Given the description of an element on the screen output the (x, y) to click on. 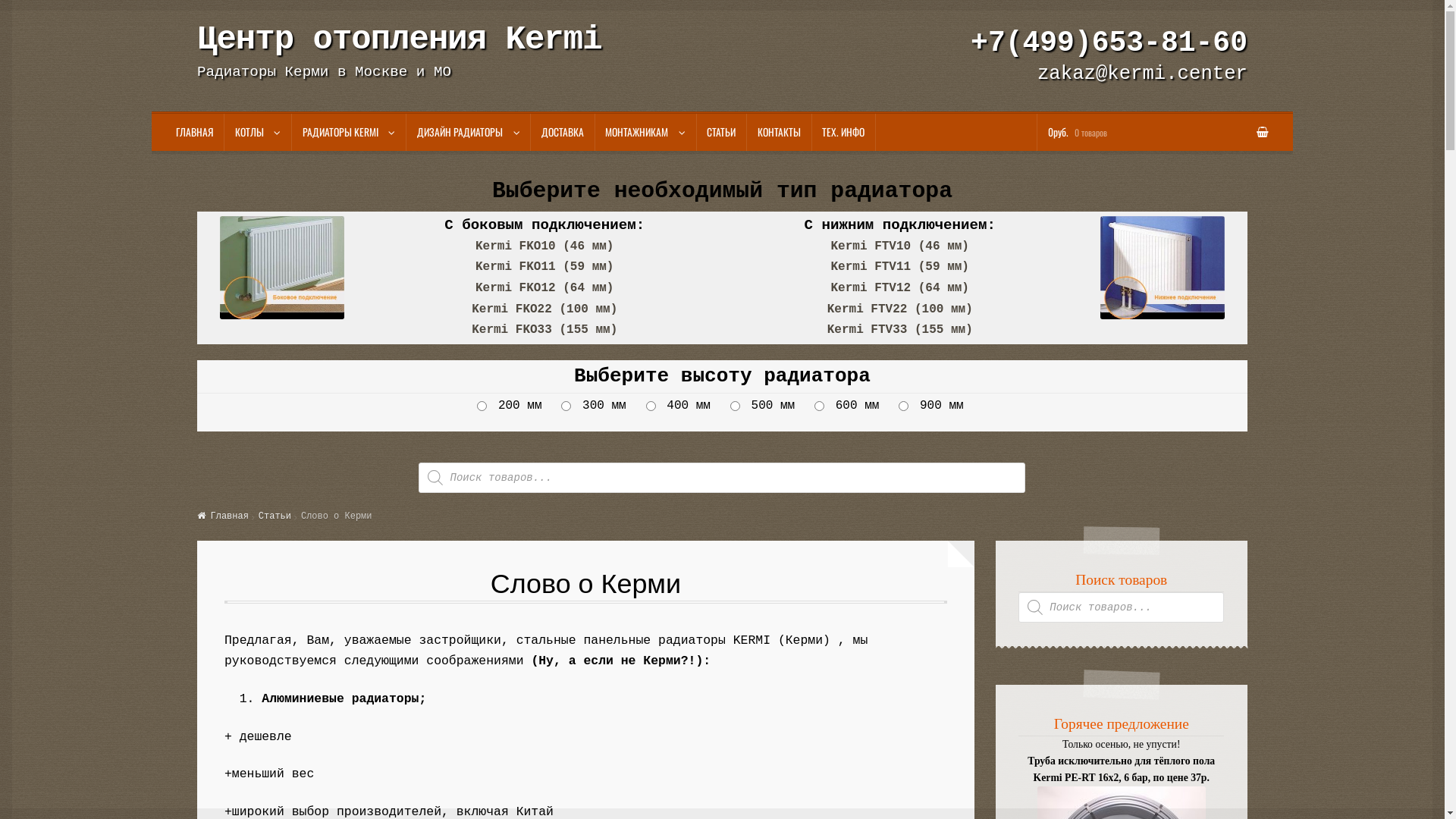
zakaz@kermi.center Element type: text (1142, 73)
